Given the description of an element on the screen output the (x, y) to click on. 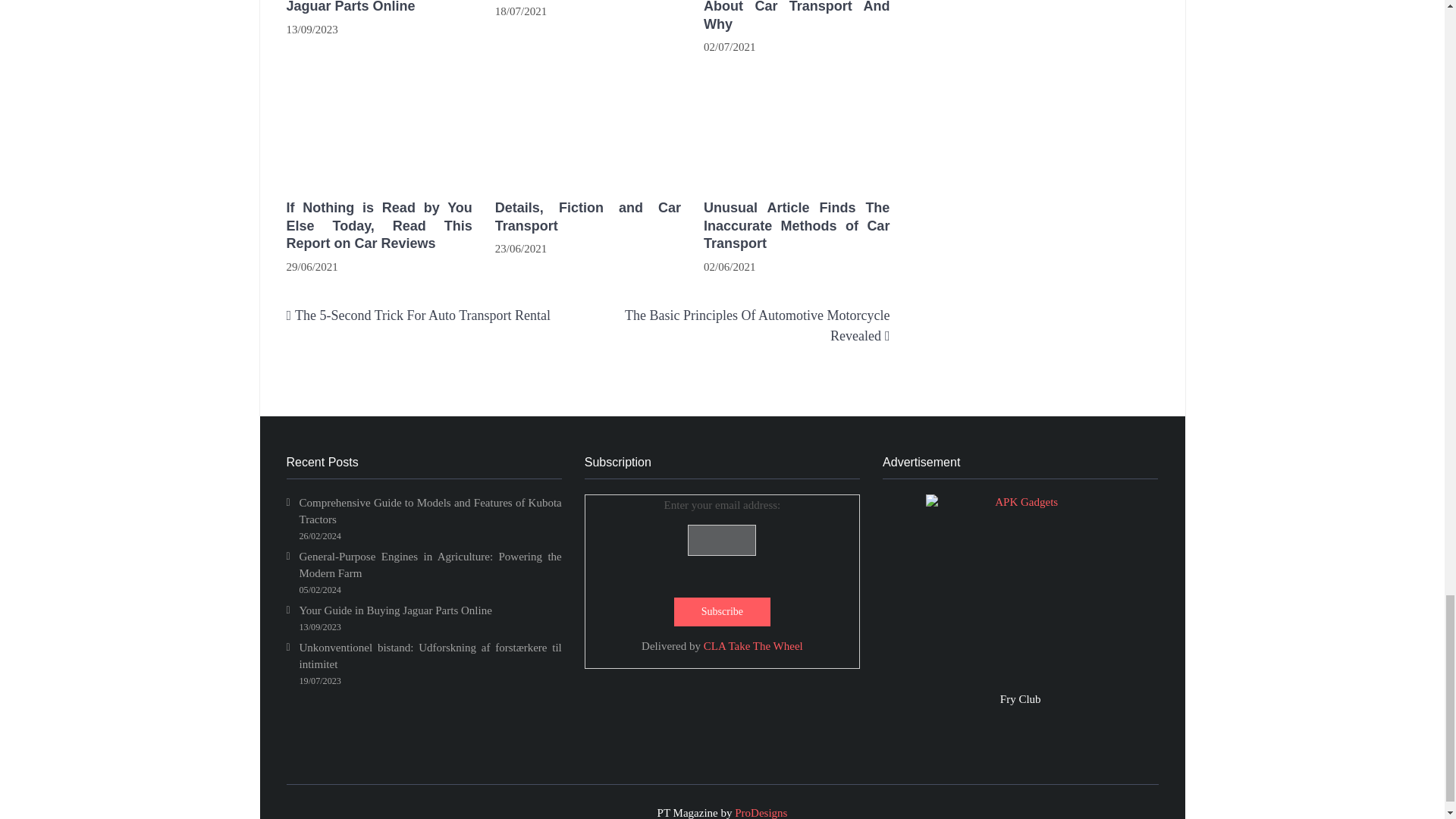
The Basic Principles Of Automotive Motorcycle Revealed (756, 325)
APK Gadgets (1020, 588)
What Everybody Dislikes About Car Transport And Why (796, 16)
Subscribe (722, 611)
Your Guide in Buying Jaguar Parts Online (378, 7)
Details, Fiction and Car Transport (588, 127)
